Given the description of an element on the screen output the (x, y) to click on. 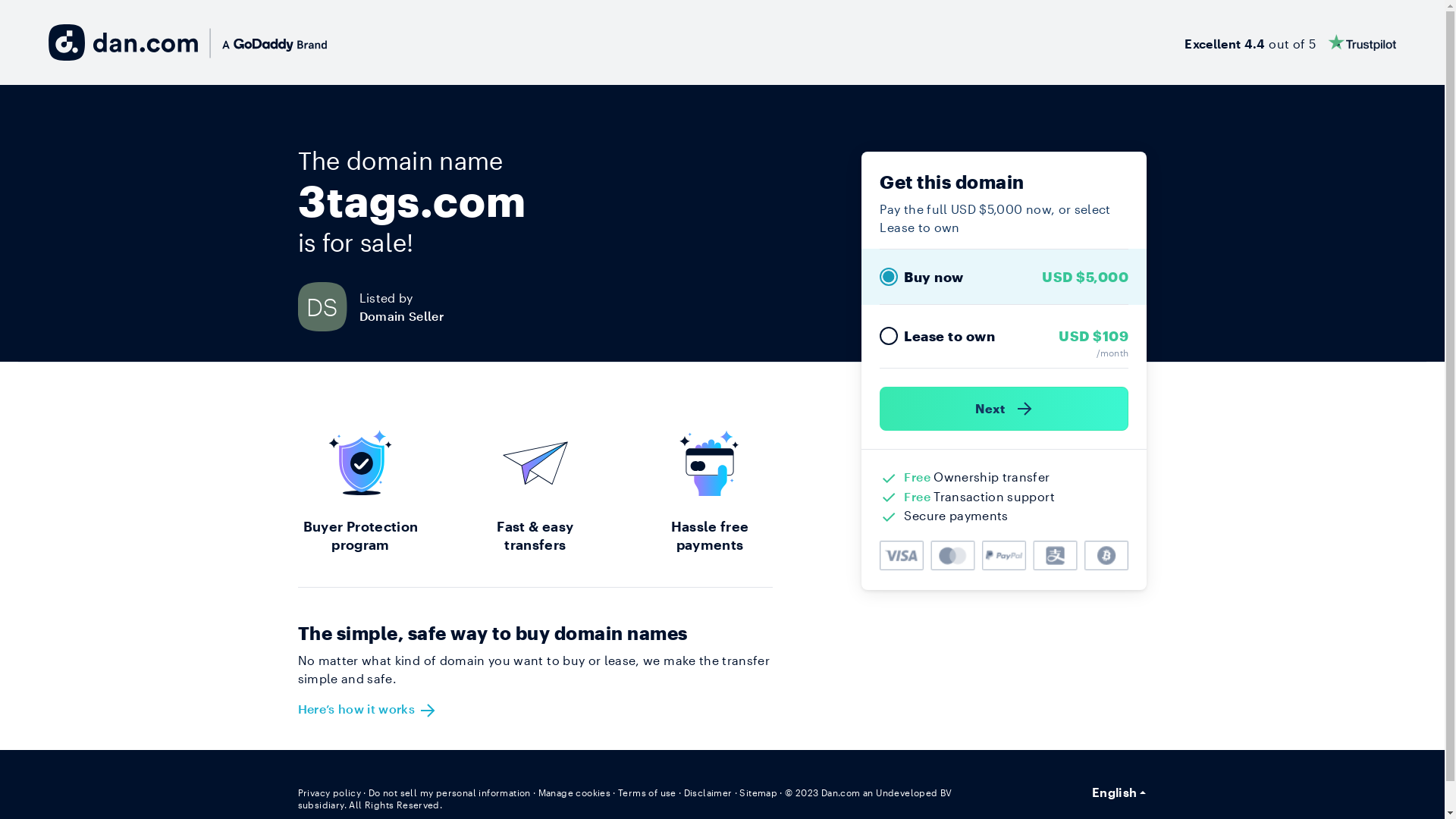
Do not sell my personal information Element type: text (449, 792)
Terms of use Element type: text (647, 792)
Next
) Element type: text (1003, 408)
Privacy policy Element type: text (328, 792)
Disclaimer Element type: text (708, 792)
Excellent 4.4 out of 5 Element type: text (1290, 42)
Sitemap Element type: text (758, 792)
English Element type: text (1119, 792)
Manage cookies Element type: text (574, 792)
